Given the description of an element on the screen output the (x, y) to click on. 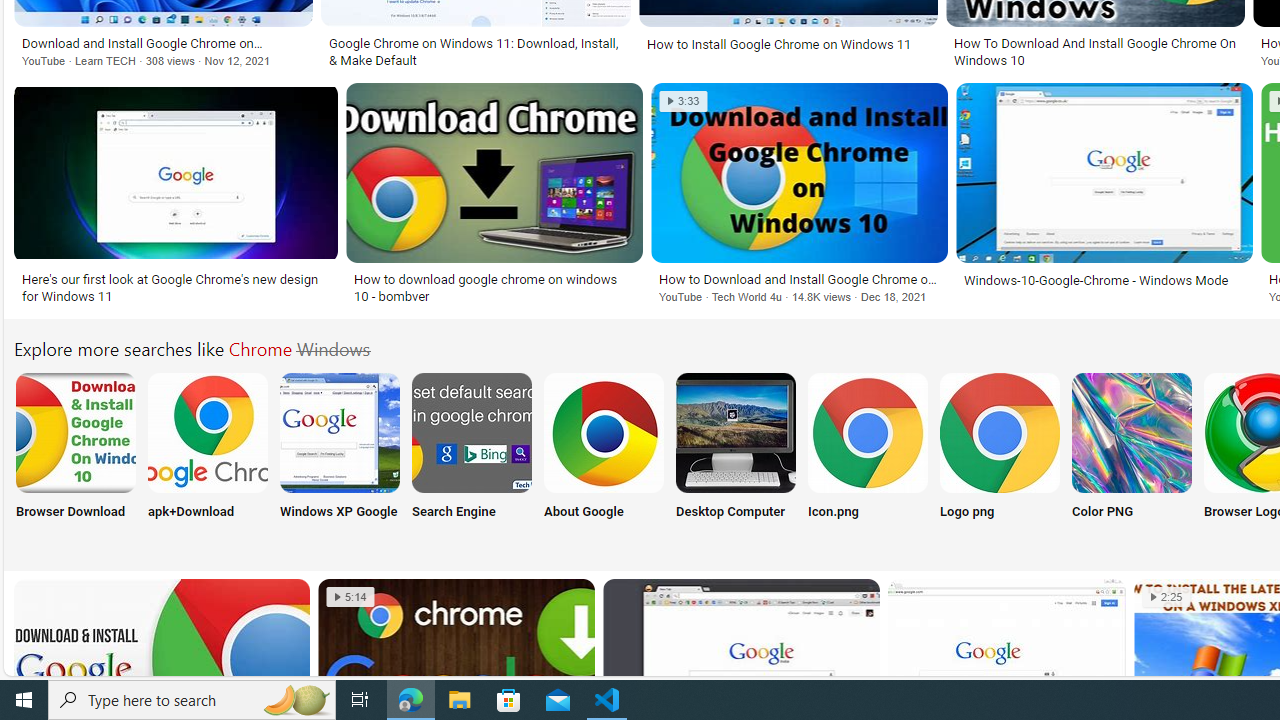
How to download google chrome on windows 10 - bombver (494, 287)
Chrome Logo.png (999, 432)
Windows-10-Google-Chrome - Windows Mode (1104, 279)
Chrome apk+Download apk+Download (207, 458)
Desktop Computer (735, 457)
How to download google chrome on windows 10 - bombverSave (498, 196)
Chrome Color PNG Color PNG (1131, 458)
Image result for Chrome Windows (1104, 172)
About Google (604, 457)
Chrome Desktop Computer (735, 432)
